Given the description of an element on the screen output the (x, y) to click on. 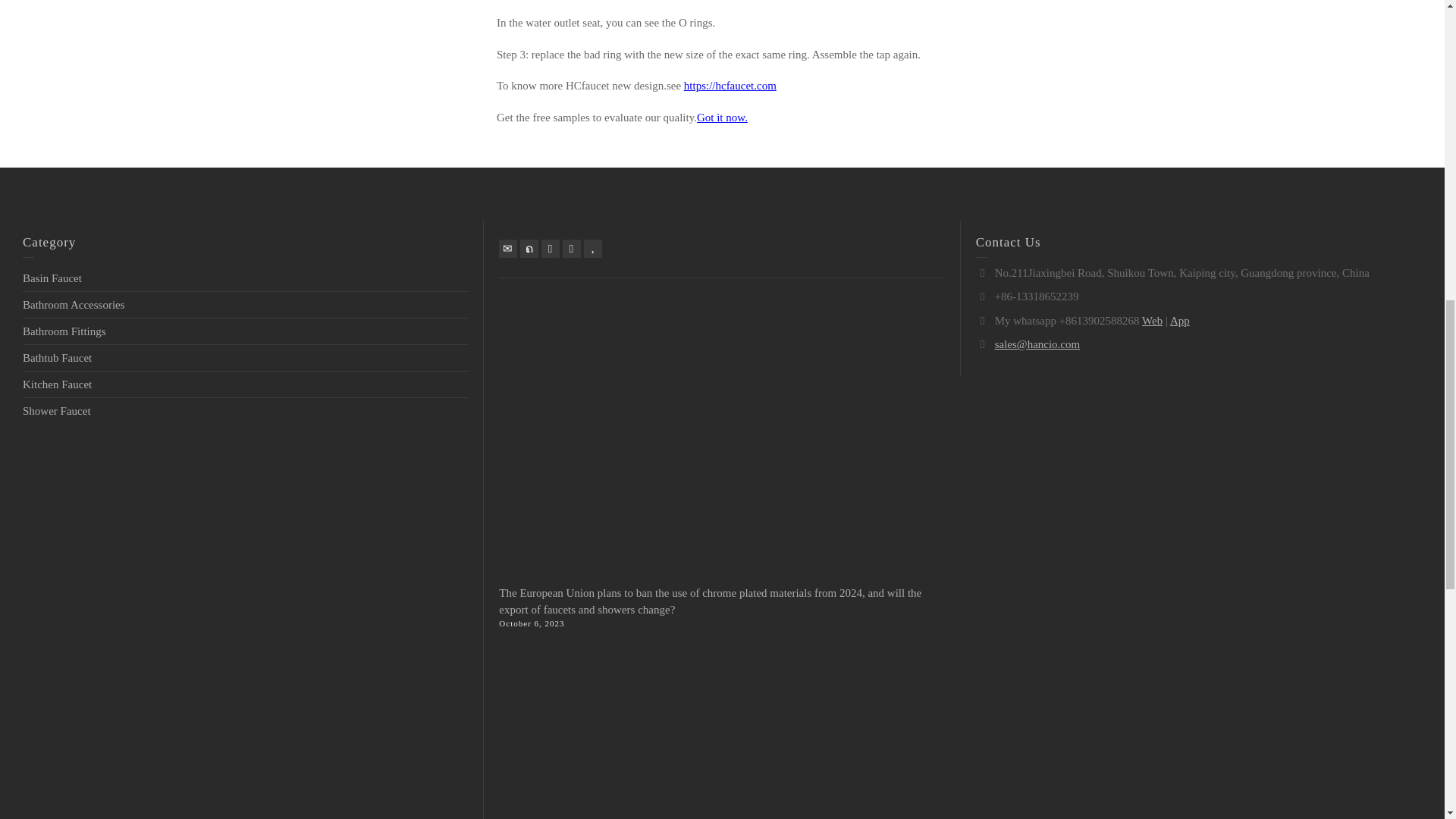
Bathroom Accessories (74, 304)
Basin Faucet (52, 277)
Got it now. (722, 117)
